Given the description of an element on the screen output the (x, y) to click on. 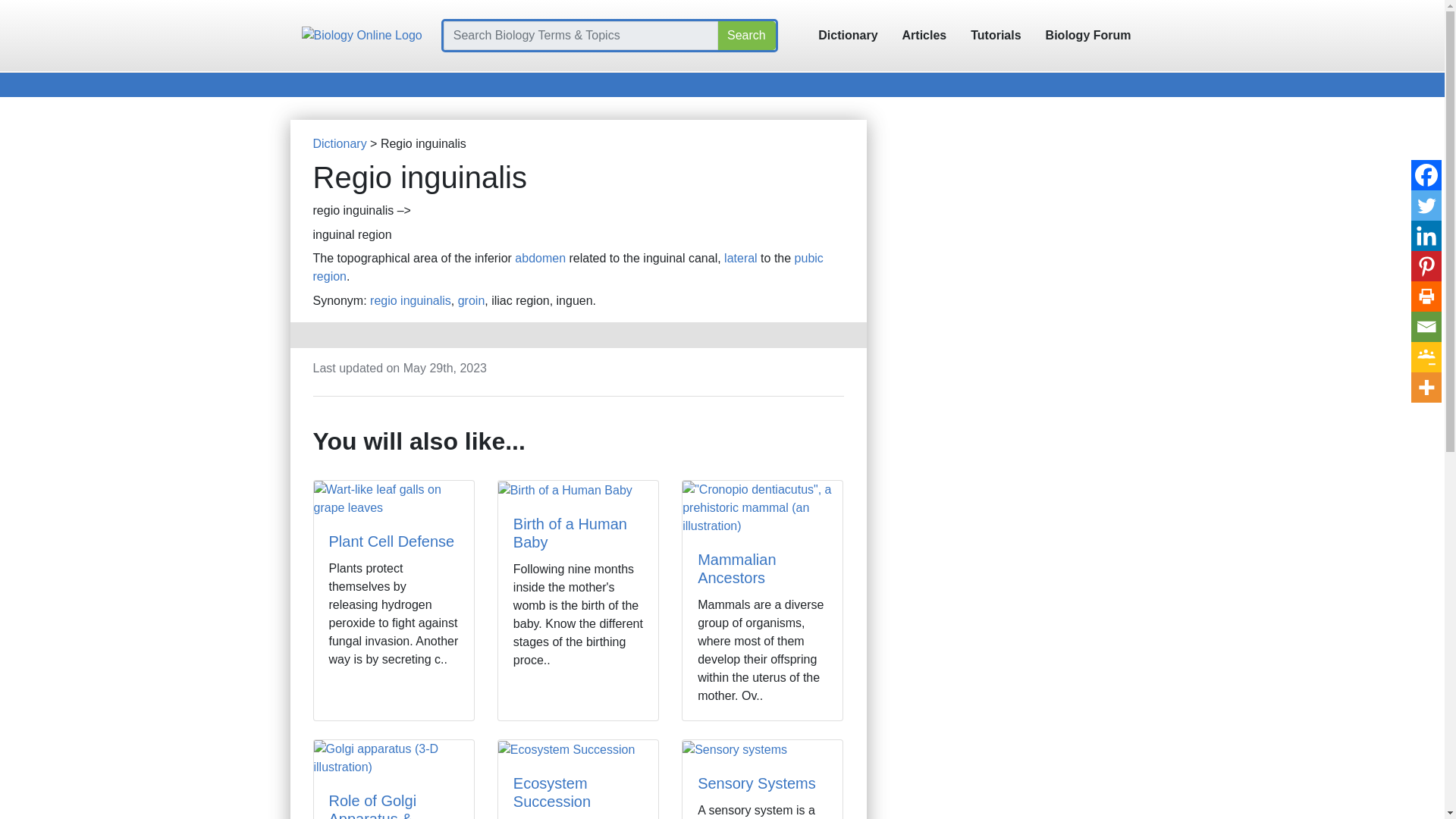
Google Classroom (1425, 357)
Biology Forum (1087, 35)
Dictionary (847, 35)
Dictionary (339, 143)
Search (746, 35)
Plant Cell Defense (391, 541)
Search (746, 35)
Tutorials (995, 35)
More (1425, 387)
Linkedin (1425, 235)
